Given the description of an element on the screen output the (x, y) to click on. 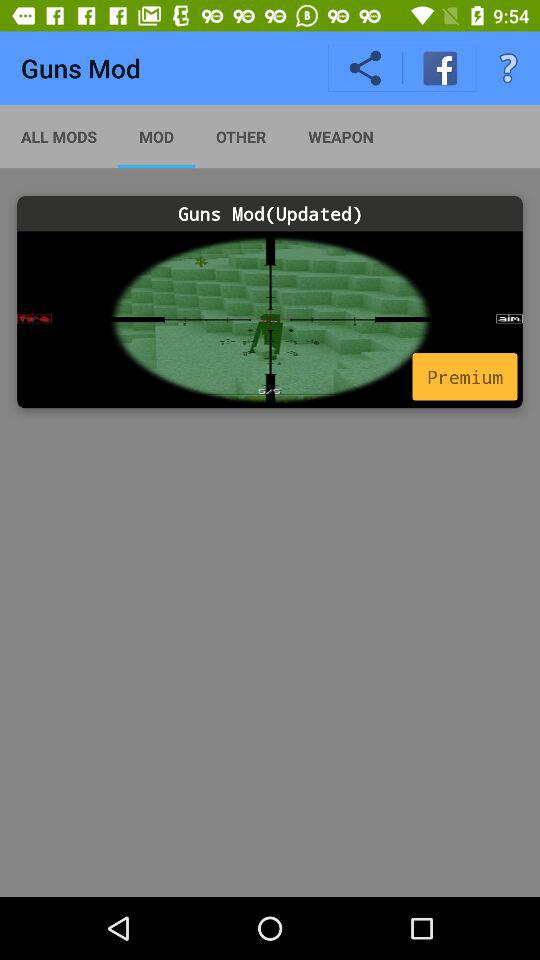
choose item above guns mod(updated) icon (340, 136)
